Given the description of an element on the screen output the (x, y) to click on. 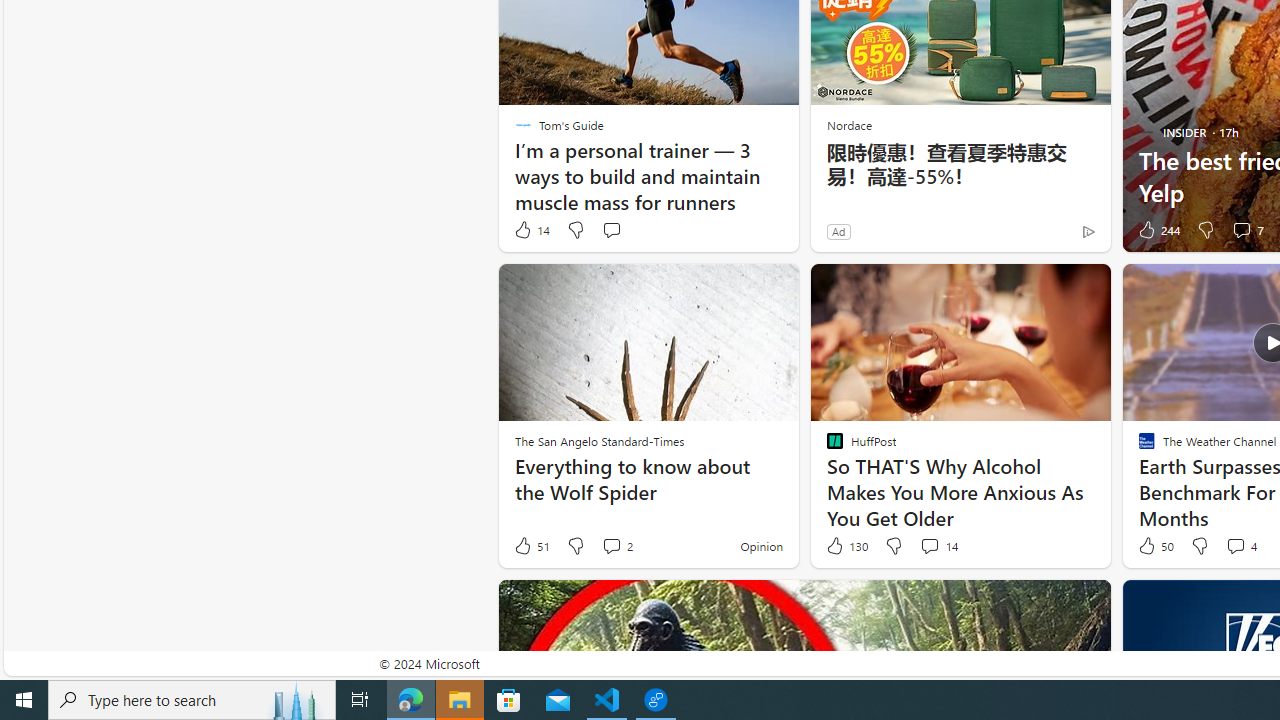
View comments 7 Comment (1241, 229)
View comments 2 Comment (616, 546)
244 Like (1157, 230)
View comments 4 Comment (1234, 545)
View comments 2 Comment (611, 545)
View comments 7 Comment (1247, 230)
